Given the description of an element on the screen output the (x, y) to click on. 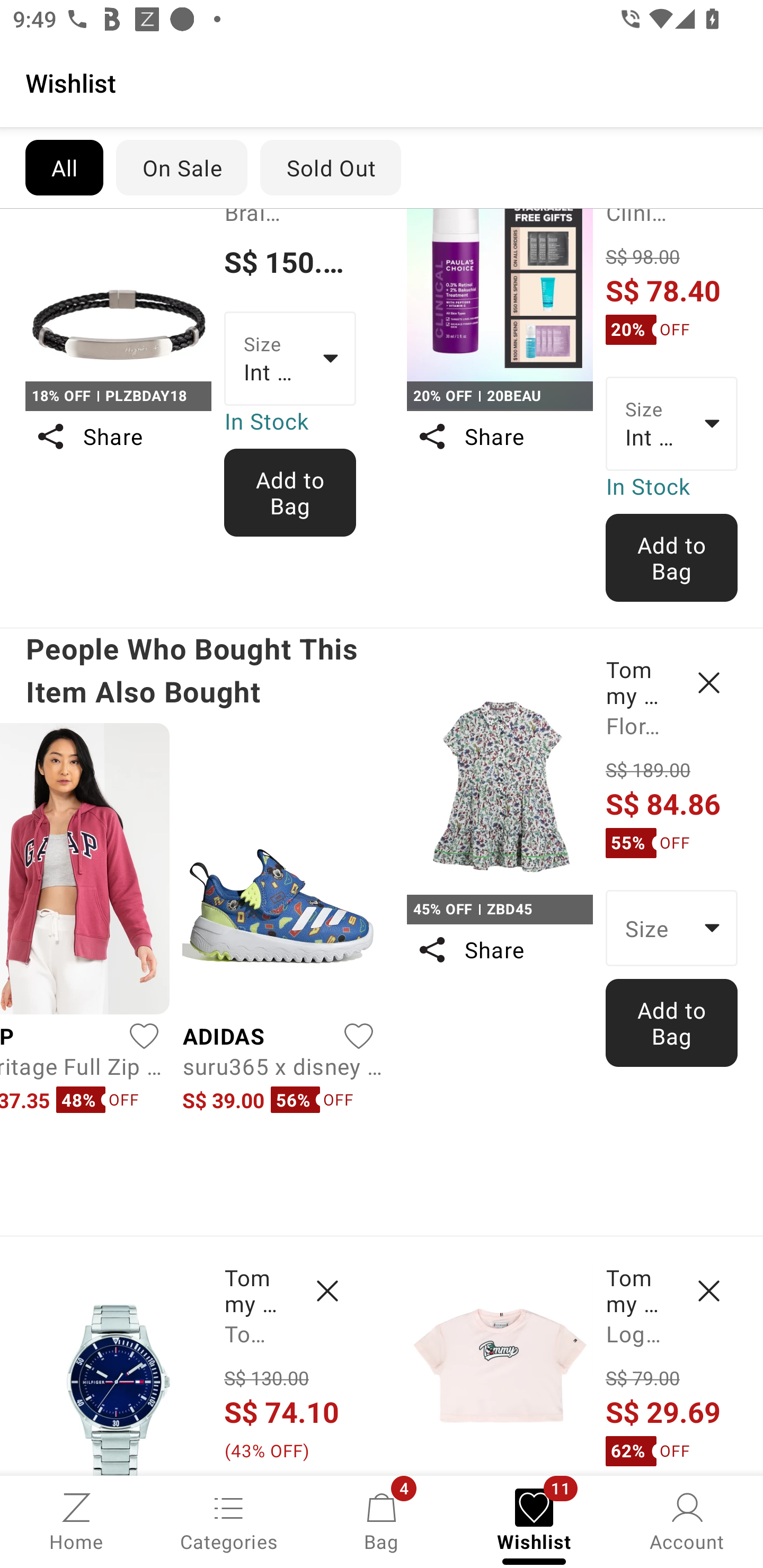
Wishlist (381, 82)
All (64, 167)
On Sale (181, 167)
Sold Out (330, 167)
Size Int One Size (290, 359)
Size Int 30 ml (671, 423)
Share (118, 436)
Share (499, 436)
Add to Bag (290, 492)
Add to Bag (671, 558)
Size (671, 927)
Share (499, 950)
Add to Bag (671, 1022)
Home (76, 1519)
Categories (228, 1519)
Bag, 4 new notifications Bag (381, 1519)
Account (686, 1519)
